Given the description of an element on the screen output the (x, y) to click on. 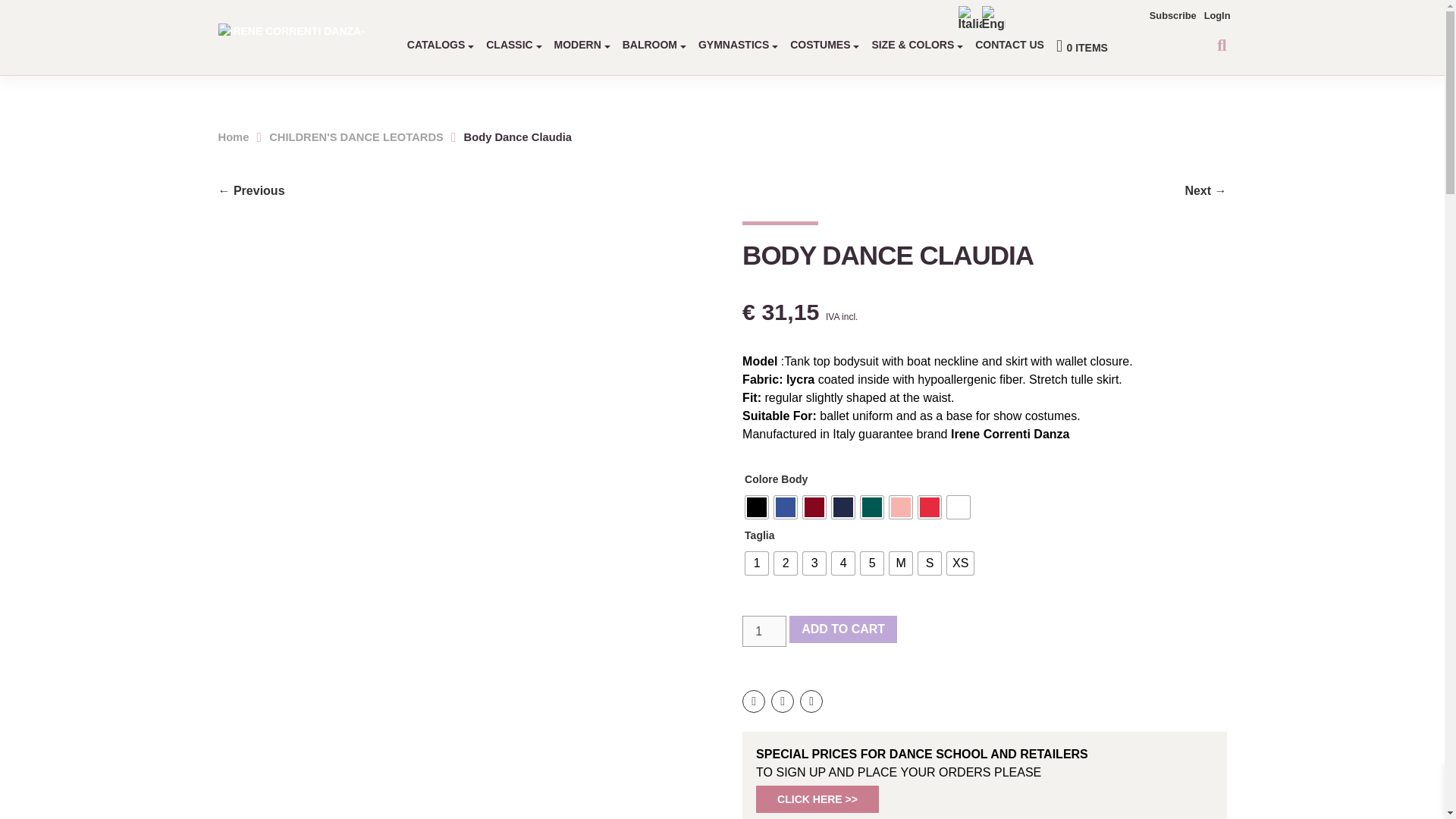
Bluette (785, 507)
Black (756, 507)
Dark Blue (842, 507)
MODERN (582, 44)
3 (814, 563)
Powder (900, 507)
Red (929, 507)
Bordeaux (814, 507)
Emerald (871, 507)
White (958, 507)
